Given the description of an element on the screen output the (x, y) to click on. 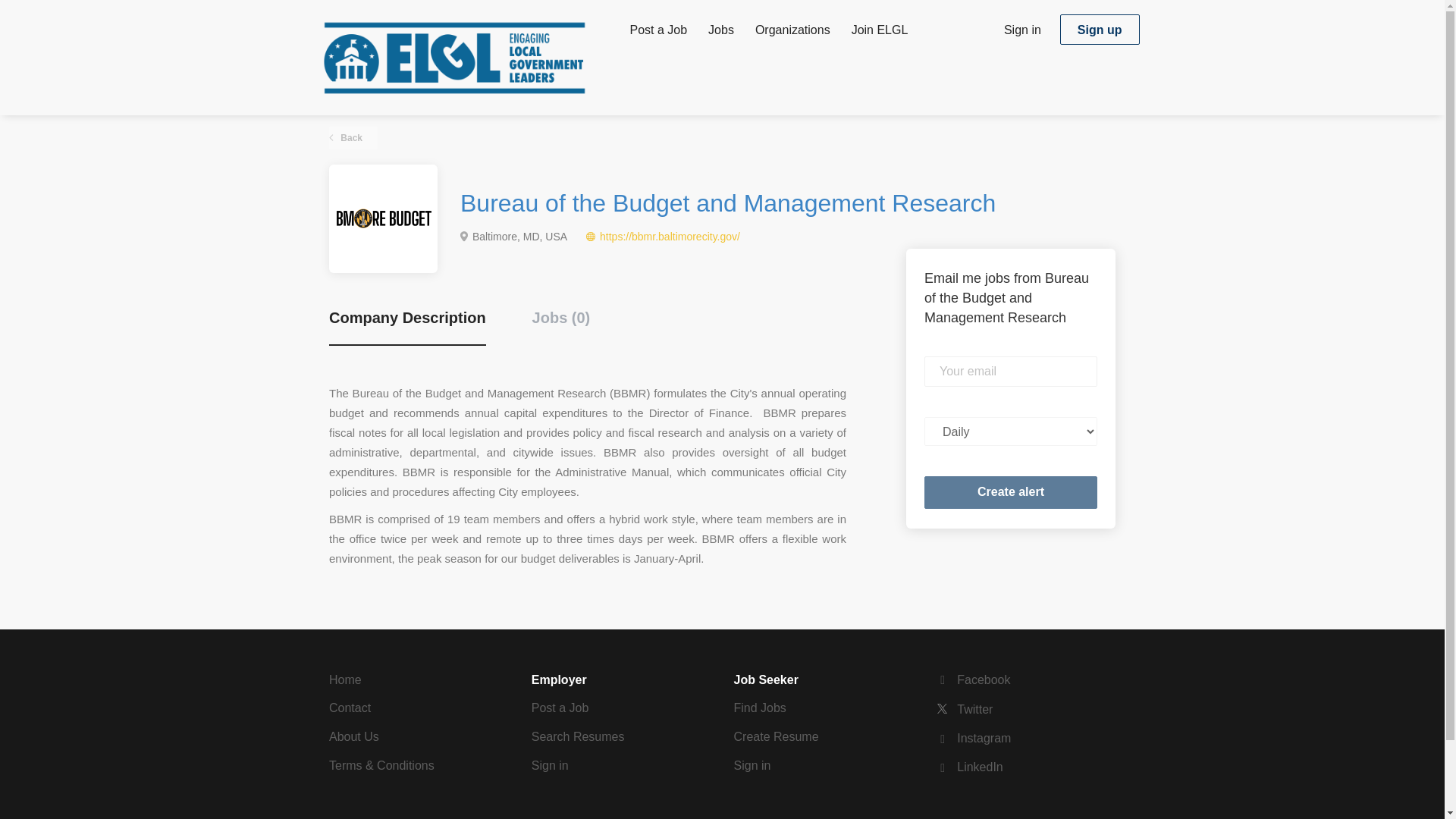
LinkedIn (969, 766)
Contact (350, 707)
Jobs (720, 32)
Sign in (752, 765)
Create alert (1010, 491)
Create Resume (775, 736)
Find Jobs (759, 707)
Home (345, 679)
Sign up (1099, 29)
Back (353, 137)
